Given the description of an element on the screen output the (x, y) to click on. 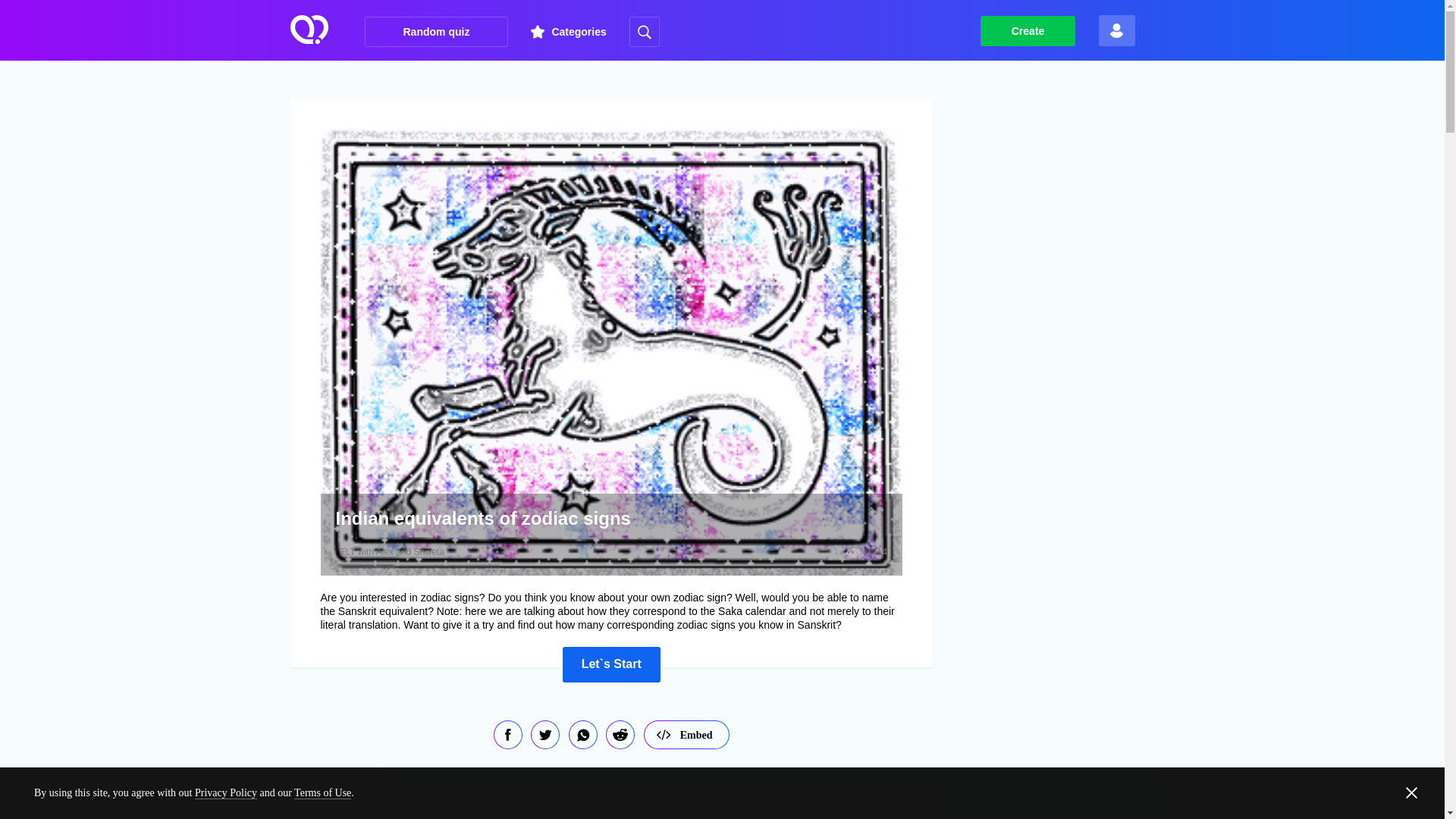
Random quiz (436, 31)
Terms of Use (322, 793)
Create (1027, 30)
Categories (568, 31)
Advertisement (1068, 806)
Embed (686, 734)
Privacy Policy (226, 793)
